Given the description of an element on the screen output the (x, y) to click on. 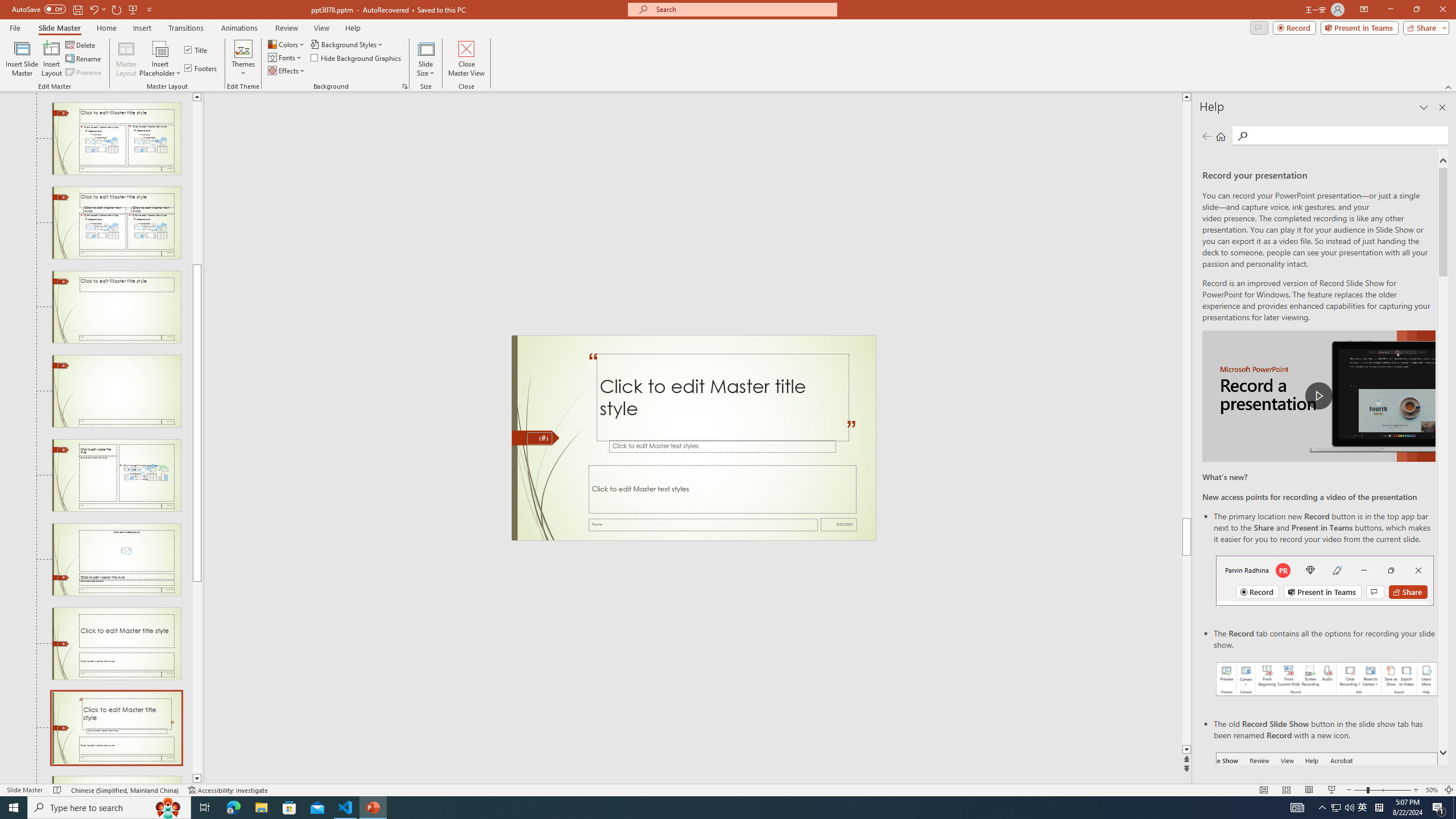
Insert Layout (51, 58)
Search (1347, 135)
Class: MsoCommandBar (728, 789)
Footer (703, 524)
Slide Size (425, 58)
Insert Placeholder (160, 58)
Hide Background Graphics (356, 56)
Record your presentations screenshot one (1326, 678)
Format Background... (404, 85)
Microsoft search (742, 9)
